Given the description of an element on the screen output the (x, y) to click on. 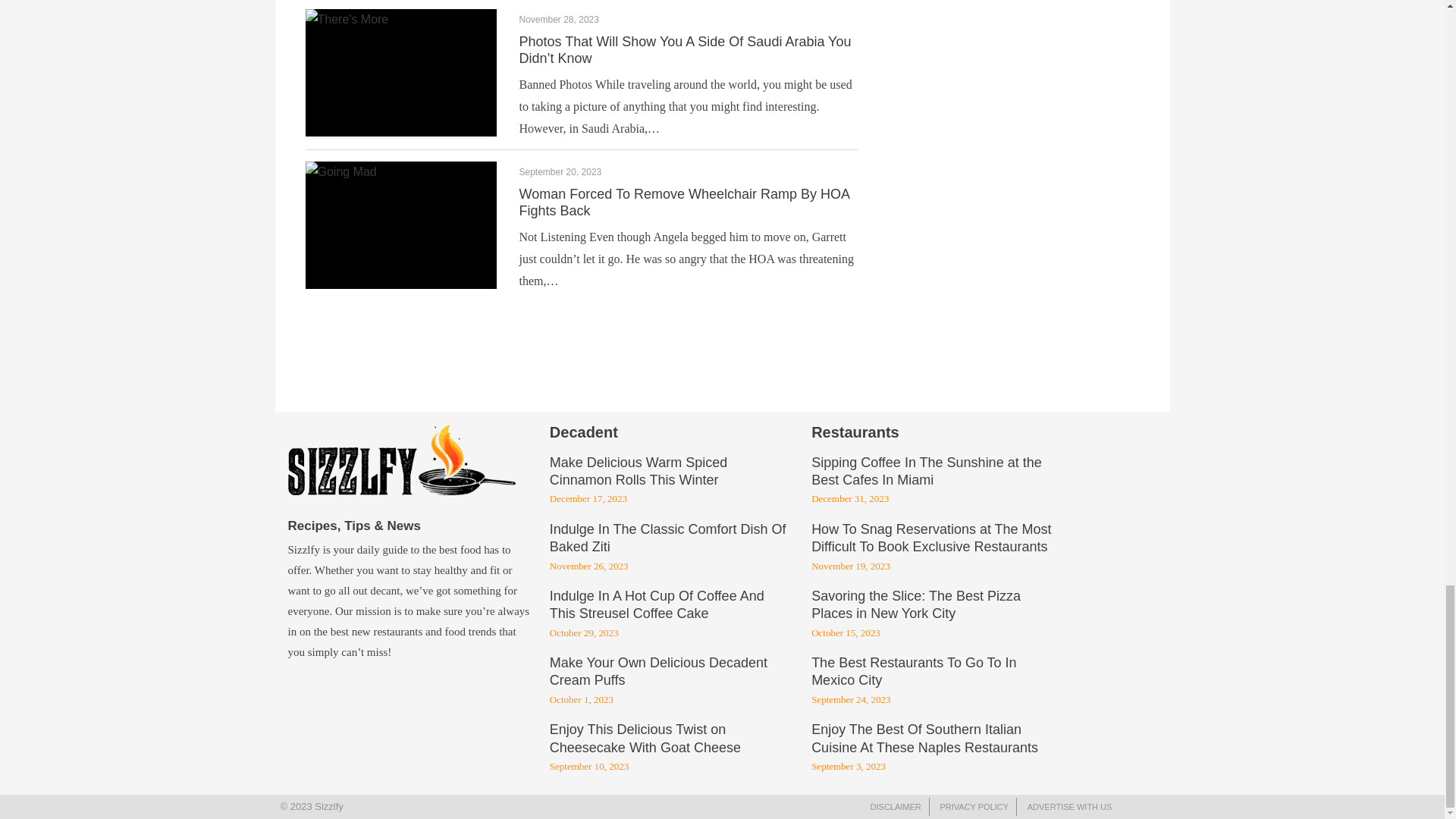
Make Delicious Warm Spiced Cinnamon Rolls This Winter (638, 471)
DISCLAIMER (895, 806)
Indulge In The Classic Comfort Dish Of Baked Ziti (668, 538)
Indulge In A Hot Cup Of Coffee And This Streusel Coffee Cake (657, 605)
Enjoy This Delicious Twist on Cheesecake With Goat Cheese (645, 738)
ADVERTISE WITH US (1069, 806)
Make Your Own Delicious Decadent Cream Puffs (658, 672)
Woman Forced To Remove Wheelchair Ramp By HOA Fights Back (683, 202)
The Best Restaurants To Go To In Mexico City (913, 672)
